Given the description of an element on the screen output the (x, y) to click on. 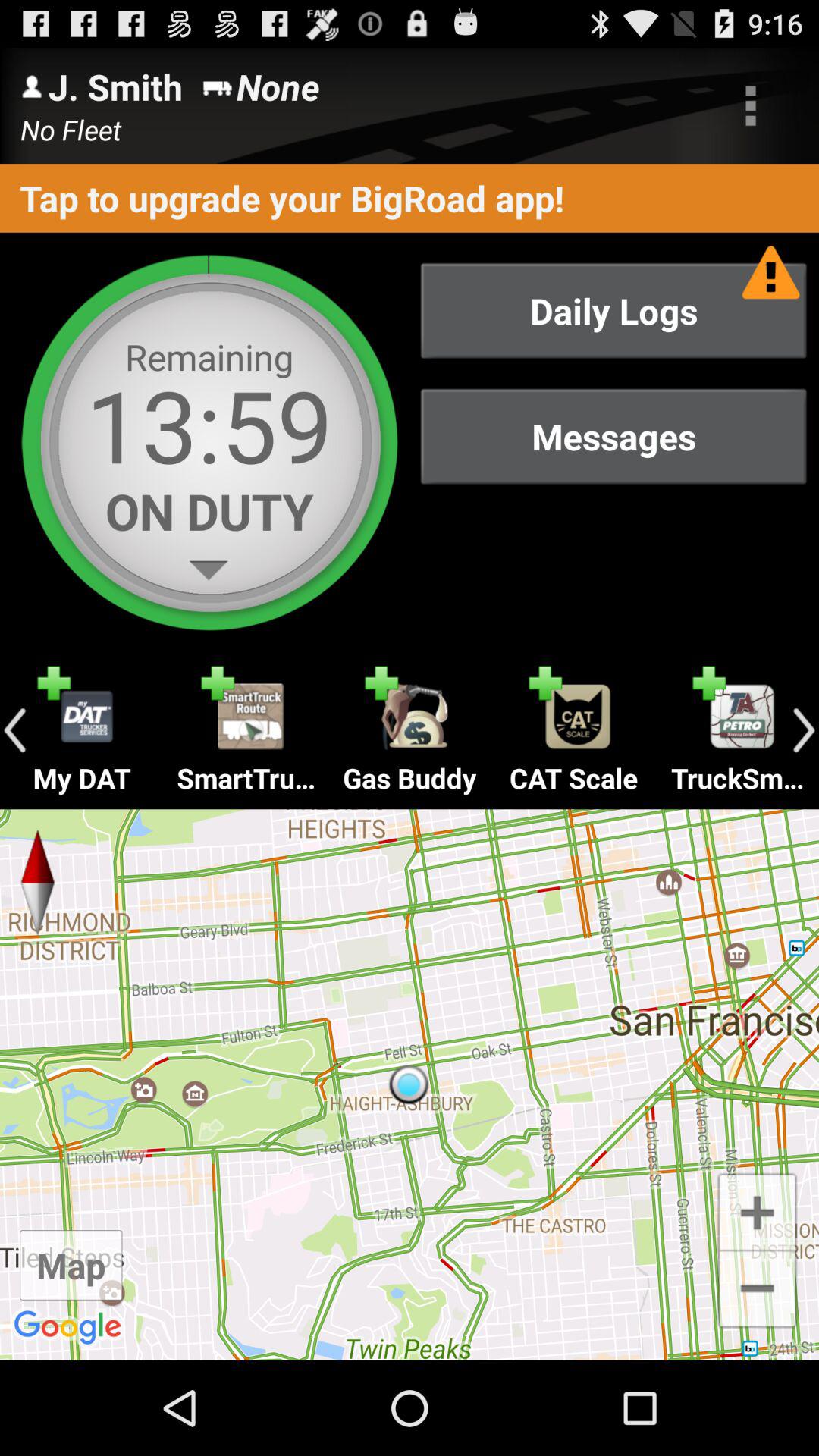
zoom in (757, 1210)
